Given the description of an element on the screen output the (x, y) to click on. 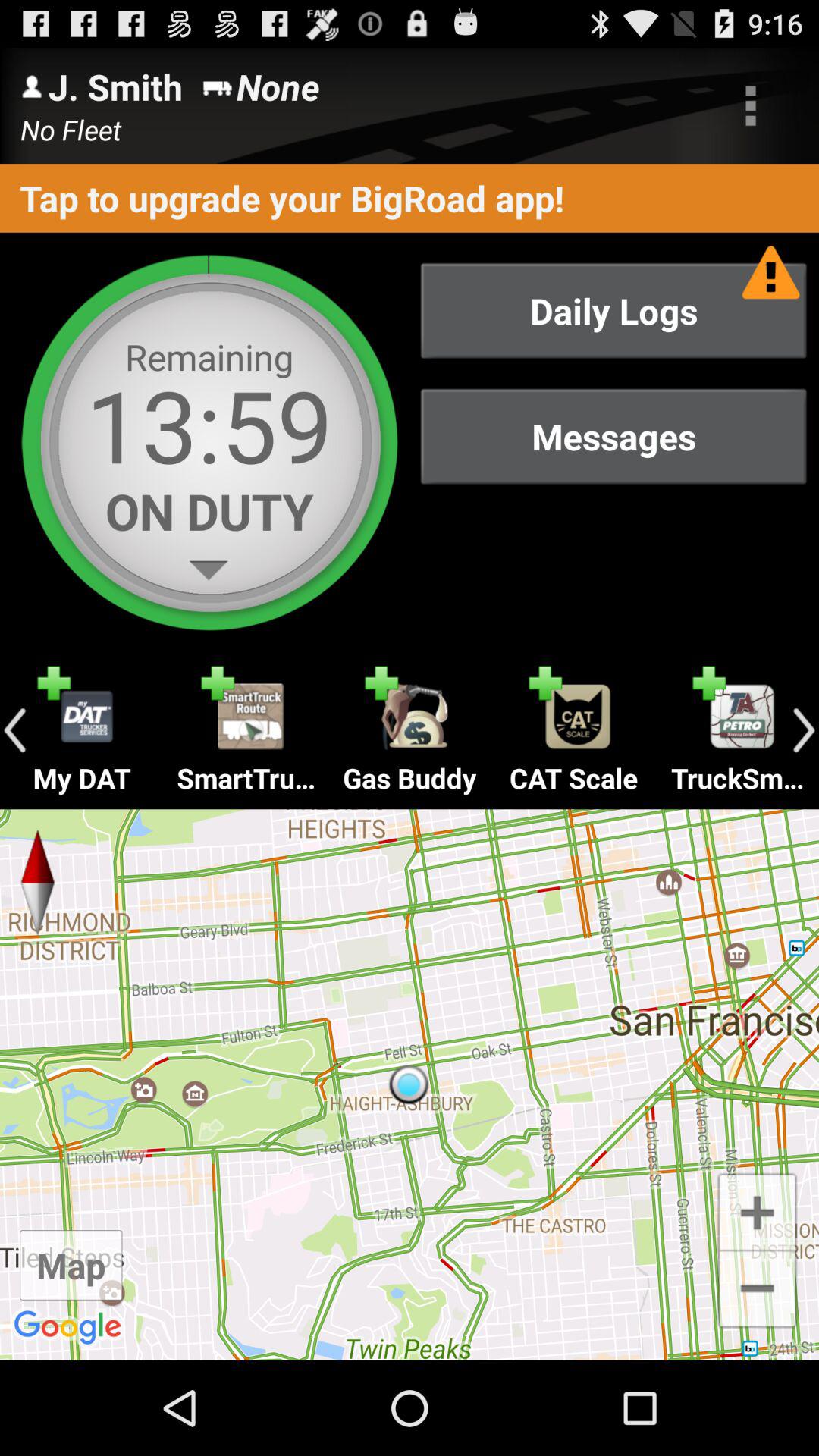
zoom in (757, 1210)
